Given the description of an element on the screen output the (x, y) to click on. 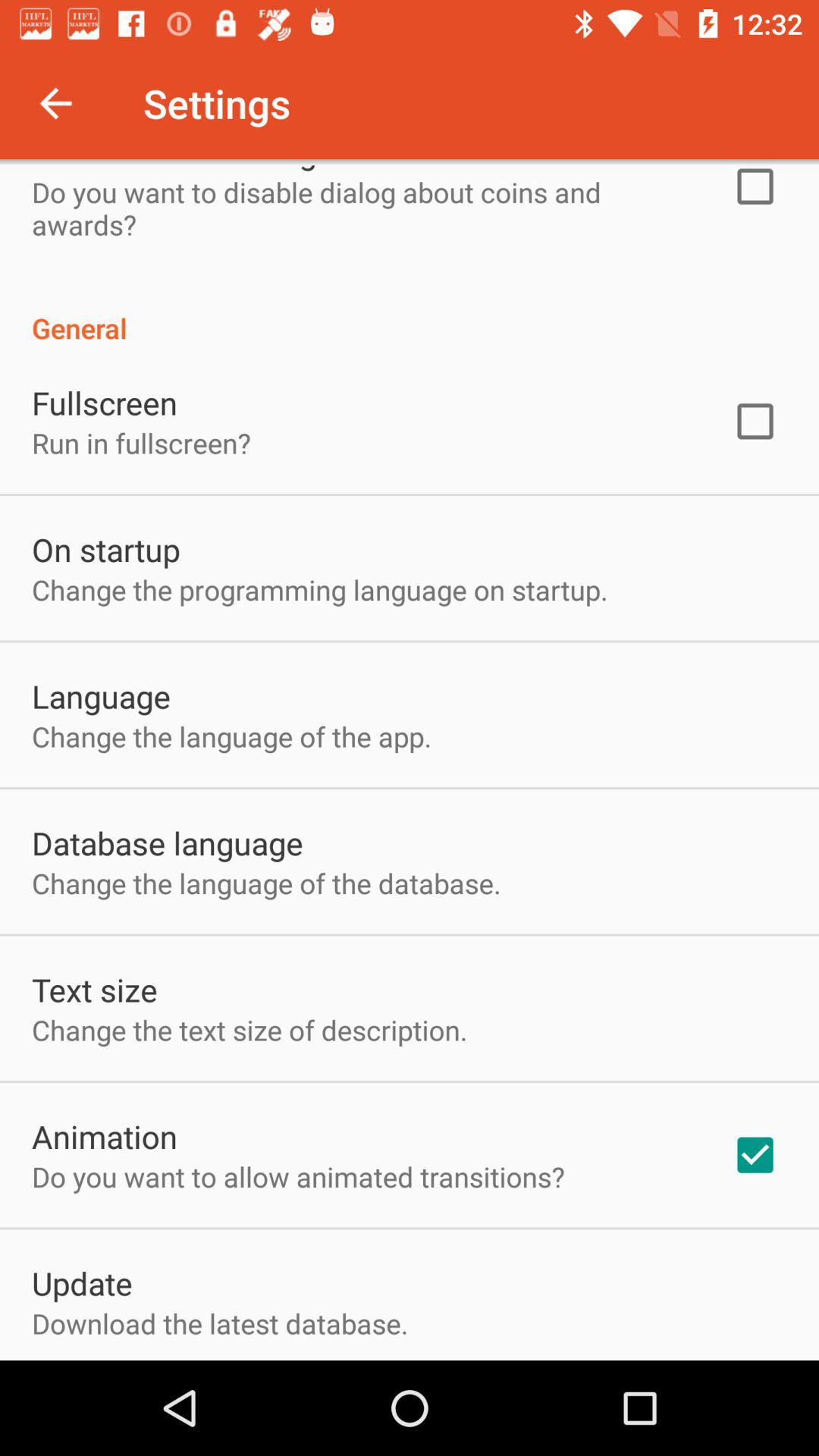
select the item above on startup (140, 442)
